Given the description of an element on the screen output the (x, y) to click on. 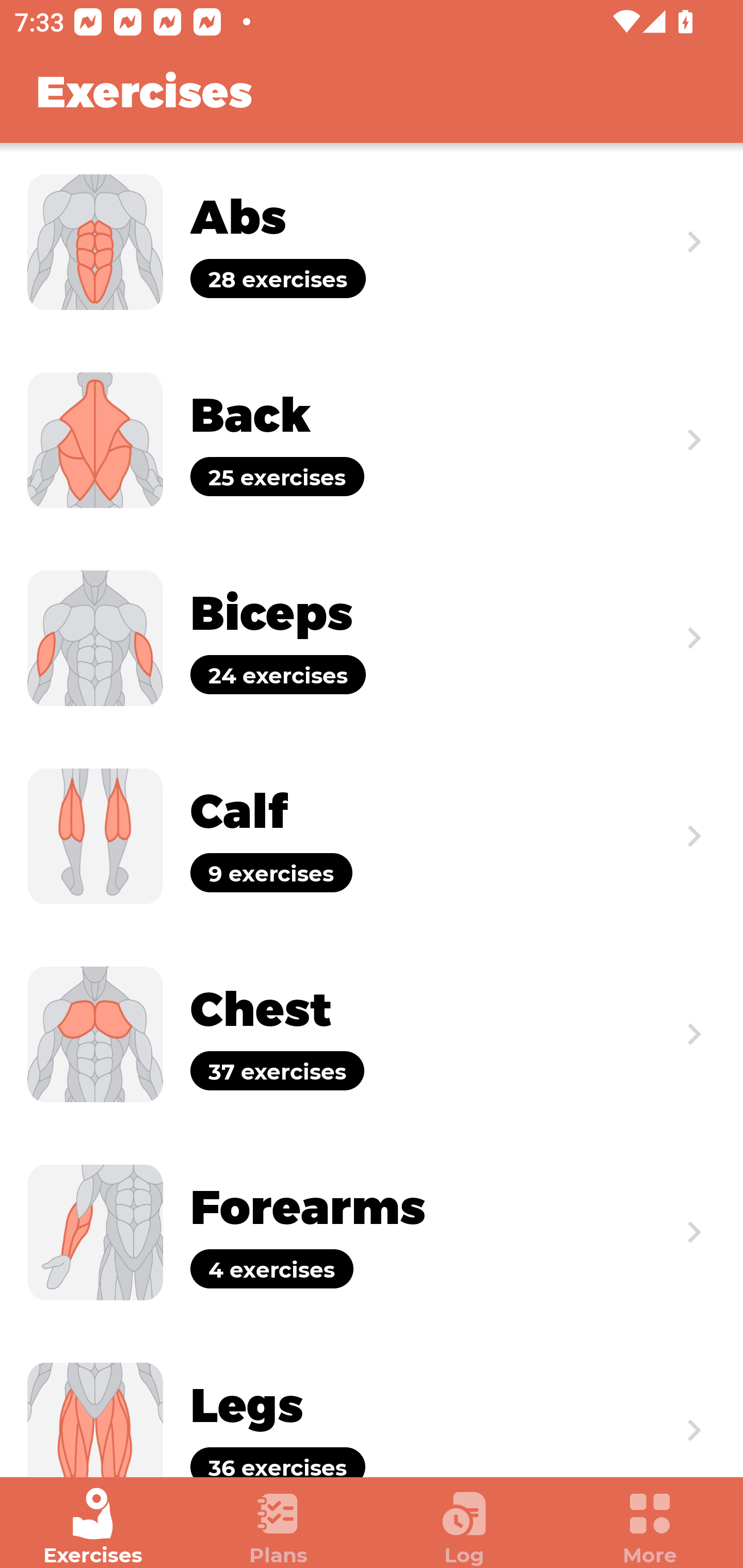
Exercise Abs 28 exercises (371, 241)
Exercise Back 25 exercises (371, 439)
Exercise Biceps 24 exercises (371, 637)
Exercise Calf 9 exercises (371, 836)
Exercise Chest 37 exercises (371, 1033)
Exercise Forearms 4 exercises (371, 1232)
Exercise Legs 36 exercises (371, 1404)
Exercises (92, 1527)
Plans (278, 1527)
Log (464, 1527)
More (650, 1527)
